Given the description of an element on the screen output the (x, y) to click on. 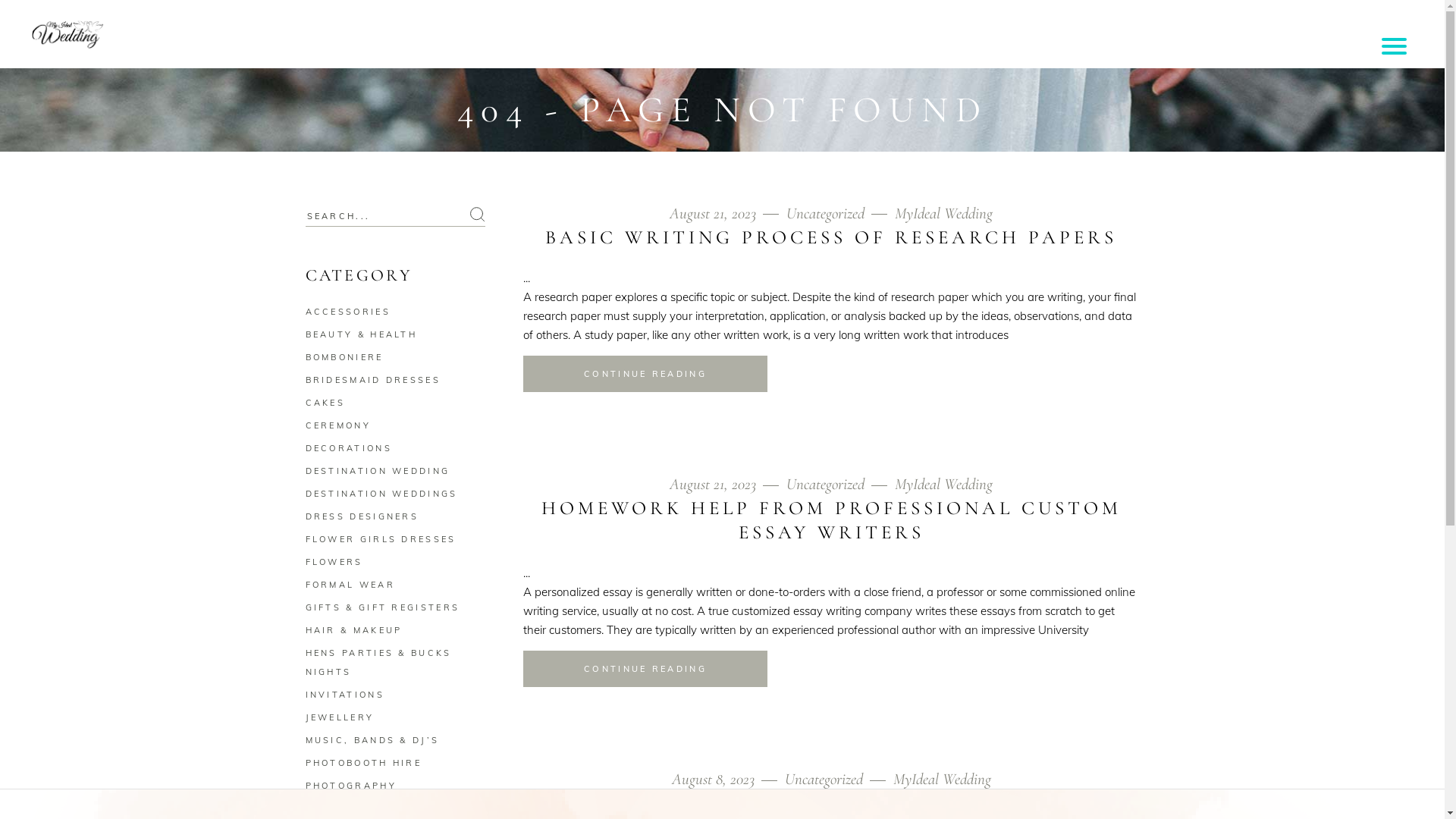
August 8, 2023 Element type: text (726, 778)
HOW TO PLAY IGT DEMO CASINO SLOTS Element type: text (831, 802)
HOMEWORK HELP FROM PROFESSIONAL CUSTOM ESSAY WRITERS Element type: text (831, 519)
ACCESSORIES Element type: text (346, 311)
August 21, 2023 Element type: text (726, 213)
Search for: Element type: hover (394, 216)
INVITATIONS Element type: text (343, 694)
CEREMONY Element type: text (337, 425)
MyIdeal Wedding Element type: text (943, 483)
FORMAL WEAR Element type: text (349, 584)
CAKES Element type: text (324, 402)
BRIDESMAID DRESSES Element type: text (371, 379)
RECEPTION VENUES Element type: text (365, 808)
PHOTOBOOTH HIRE Element type: text (362, 762)
Uncategorized Element type: text (838, 483)
DRESS DESIGNERS Element type: text (361, 516)
HENS PARTIES & BUCKS NIGHTS Element type: text (377, 662)
CONTINUE READING Element type: text (645, 668)
BOMBONIERE Element type: text (343, 356)
FLOWERS Element type: text (333, 561)
GIFTS & GIFT REGISTERS Element type: text (381, 607)
HAIR & MAKEUP Element type: text (352, 629)
Uncategorized Element type: text (838, 213)
August 21, 2023 Element type: text (726, 483)
PHOTOGRAPHY Element type: text (349, 785)
CONTINUE READING Element type: text (645, 373)
DESTINATION WEDDINGS Element type: text (380, 493)
BASIC WRITING PROCESS OF RESEARCH PAPERS Element type: text (831, 236)
Uncategorized Element type: text (837, 778)
MyIdeal Wedding Element type: text (943, 213)
DESTINATION WEDDING Element type: text (376, 470)
DECORATIONS Element type: text (347, 447)
MyIdeal Wedding Element type: text (942, 778)
FLOWER GIRLS DRESSES Element type: text (379, 538)
JEWELLERY Element type: text (338, 717)
BEAUTY & HEALTH Element type: text (360, 334)
